Given the description of an element on the screen output the (x, y) to click on. 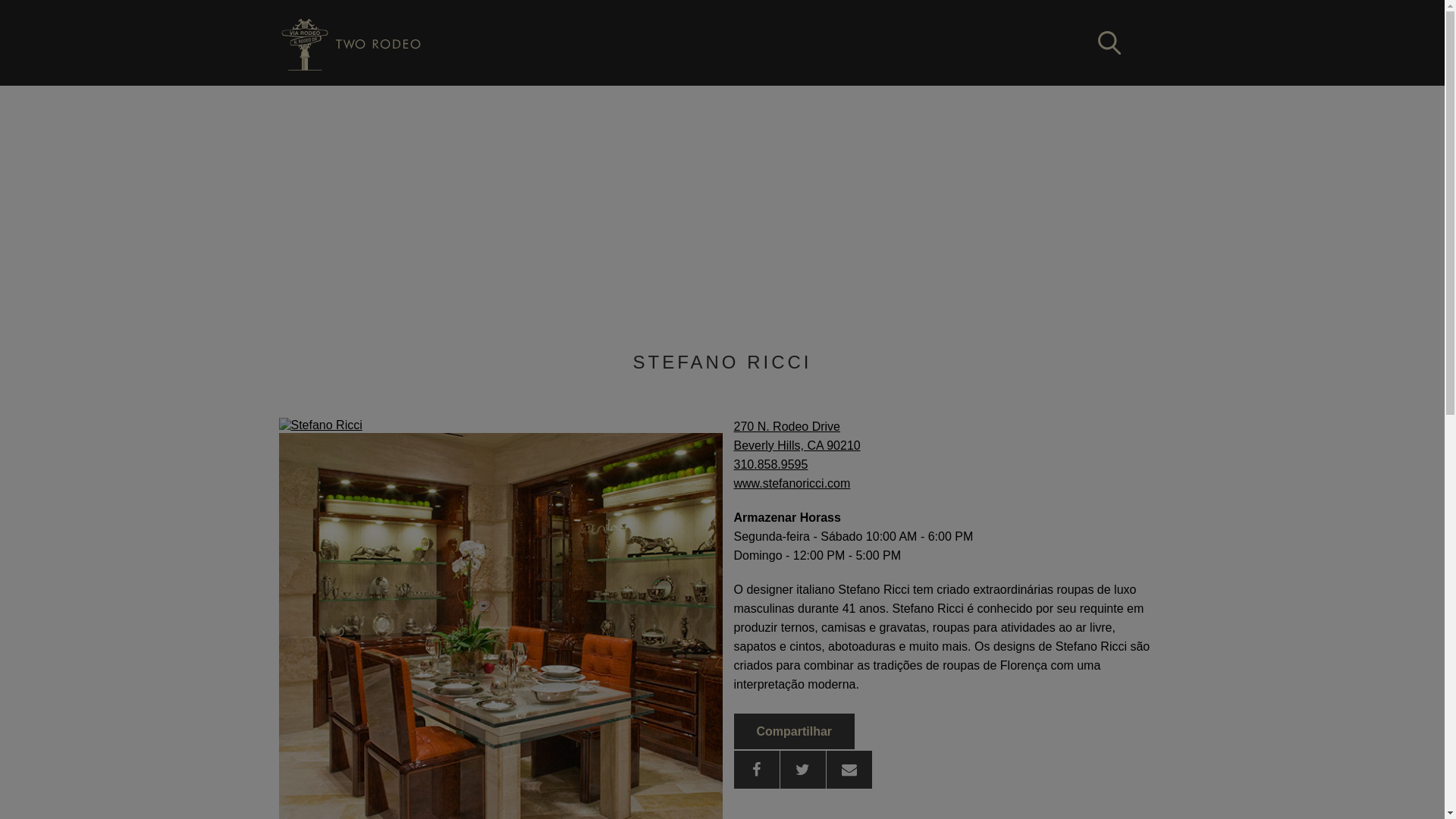
www.stefanoricci.com Element type: text (792, 482)
270 N. Rodeo Drive
Beverly Hills, CA 90210 Element type: text (797, 435)
310.858.9595 Element type: text (771, 464)
